Given the description of an element on the screen output the (x, y) to click on. 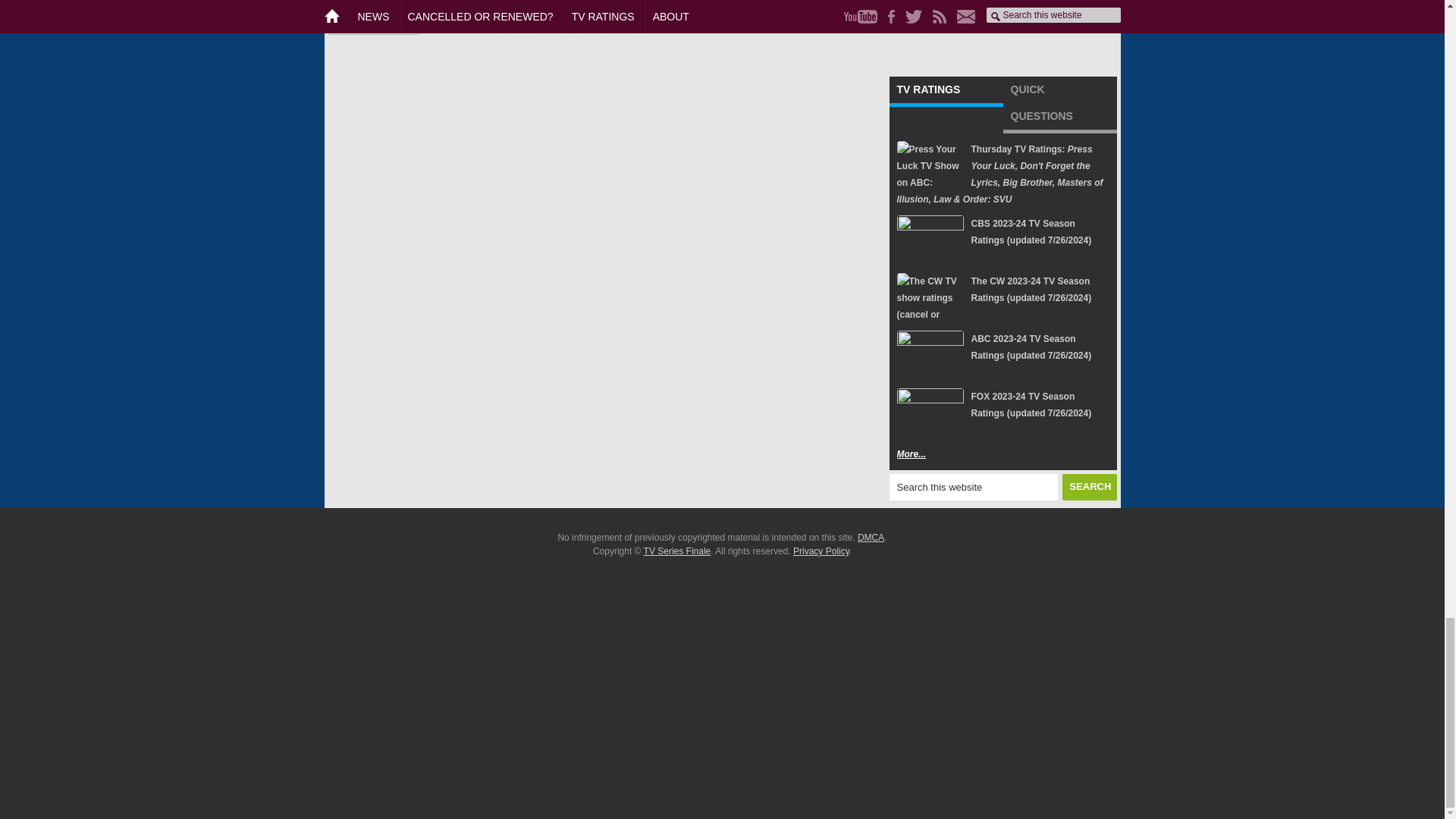
Search (1088, 487)
Search (1088, 487)
